Given the description of an element on the screen output the (x, y) to click on. 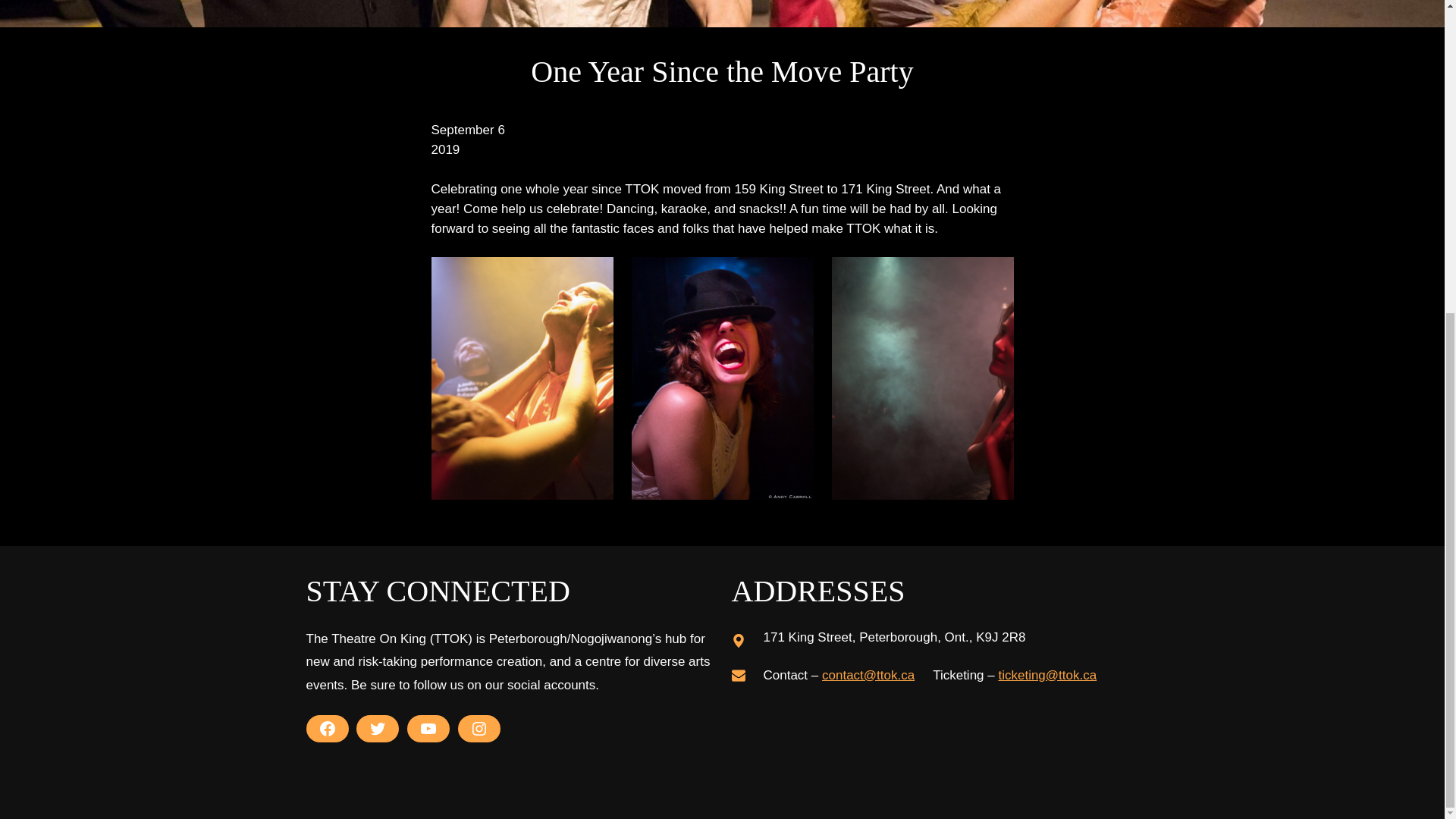
Twitter (377, 728)
Instagram (479, 728)
YouTube (428, 728)
Facebook (327, 728)
